Given the description of an element on the screen output the (x, y) to click on. 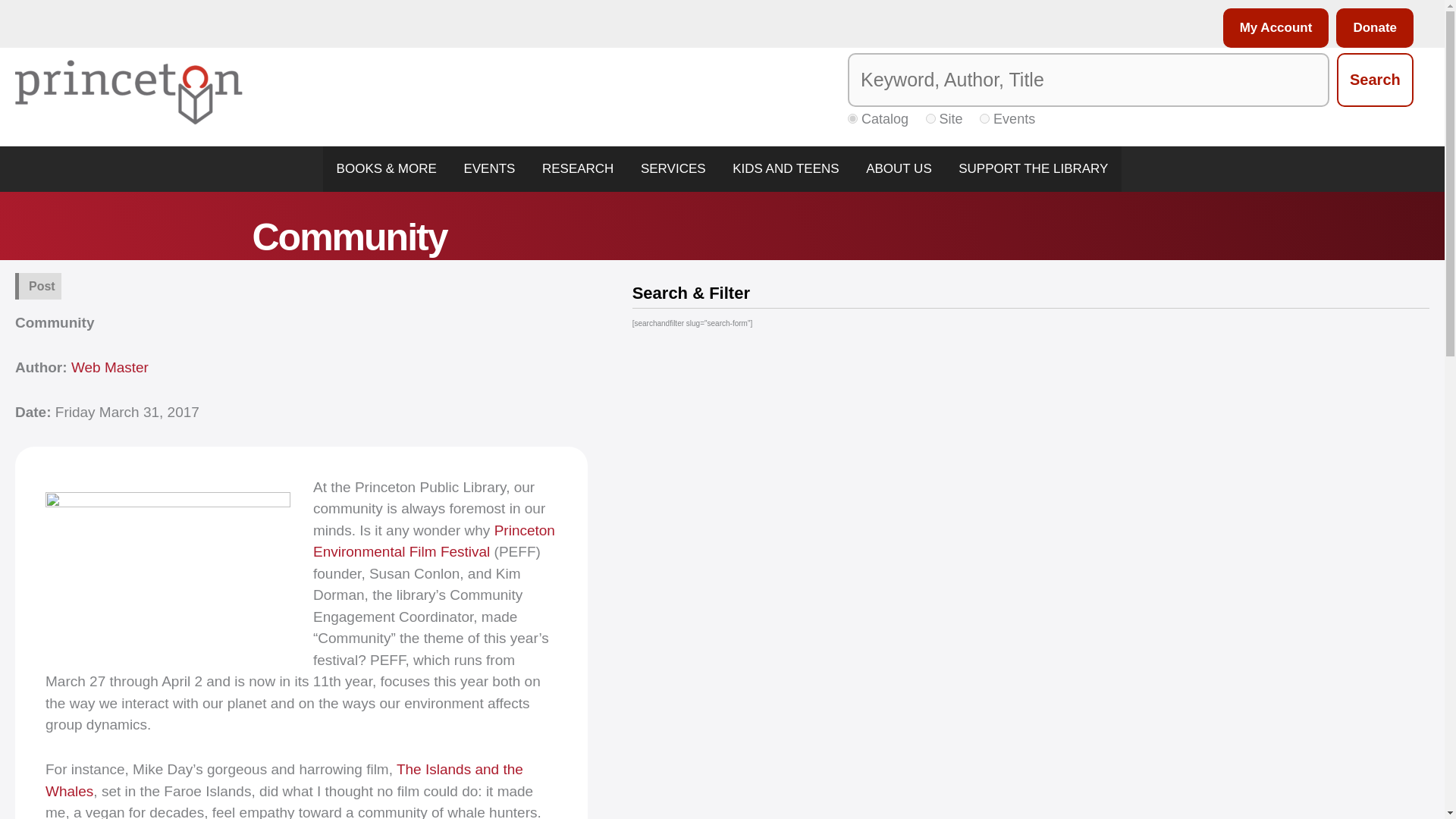
EVENTS (489, 168)
SUPPORT THE LIBRARY (1032, 168)
ABOUT US (897, 168)
Search (1374, 80)
catalog (852, 118)
Search (1374, 80)
Donate (1371, 27)
Princeton Environmental Film Festival (433, 541)
Search (1374, 80)
My Account (1272, 27)
site (931, 118)
KIDS AND TEENS (785, 168)
events (984, 118)
Web Master (109, 367)
Post (42, 286)
